Given the description of an element on the screen output the (x, y) to click on. 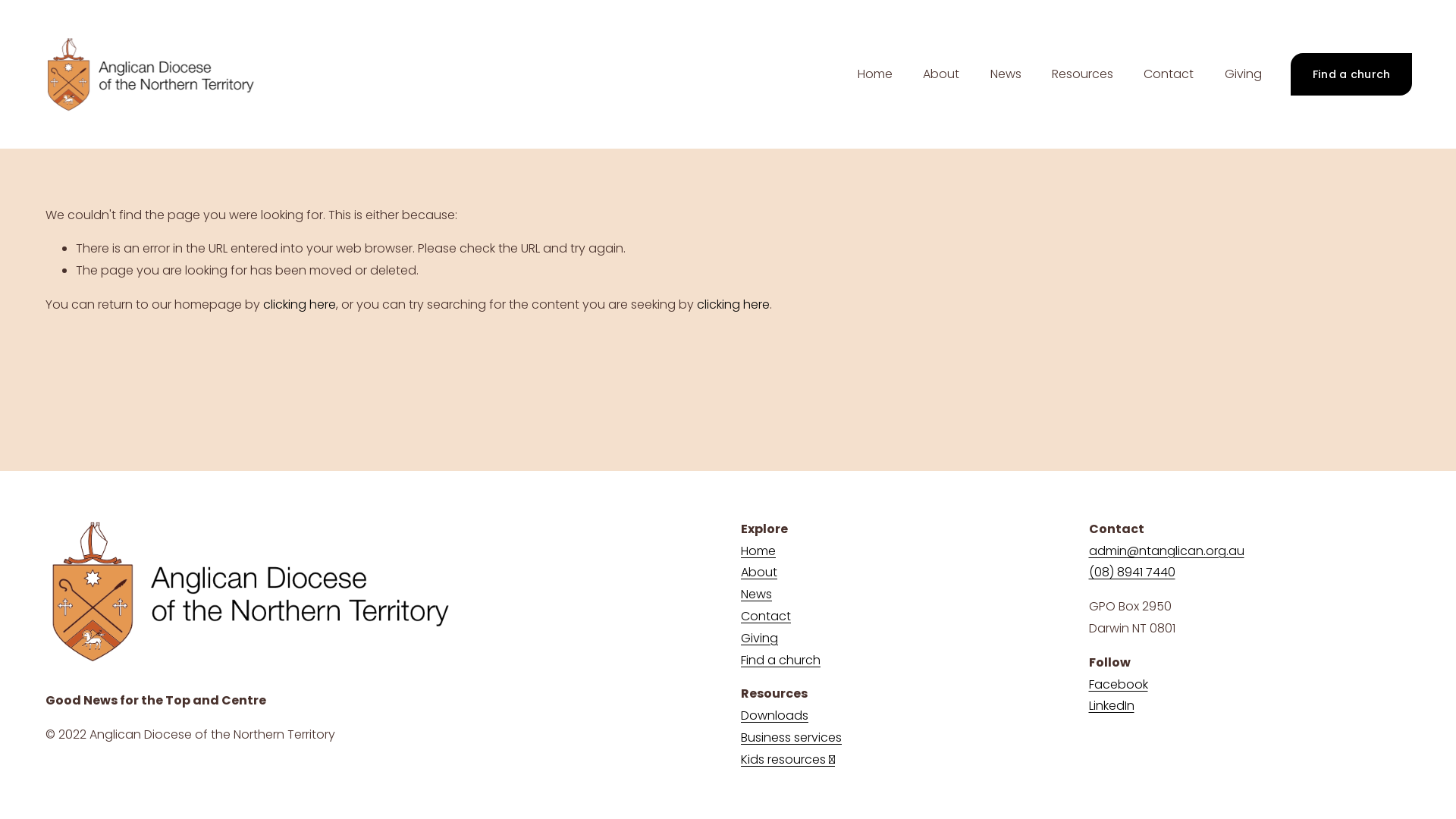
About Element type: text (940, 74)
clicking here Element type: text (299, 304)
Facebook Element type: text (1118, 685)
Giving Element type: text (1242, 74)
Downloads Element type: text (774, 716)
Giving Element type: text (759, 638)
clicking here Element type: text (732, 304)
LinkedIn Element type: text (1111, 706)
News Element type: text (755, 594)
Find a church Element type: text (1351, 74)
admin@ntanglican.org.au Element type: text (1166, 551)
(08) 8941 7440 Element type: text (1131, 572)
About Element type: text (758, 572)
News Element type: text (1005, 74)
Home Element type: text (874, 74)
Find a church Element type: text (780, 660)
Contact Element type: text (1168, 74)
Business services Element type: text (790, 738)
Home Element type: text (757, 551)
Contact Element type: text (765, 616)
Resources Element type: text (1082, 74)
